Given the description of an element on the screen output the (x, y) to click on. 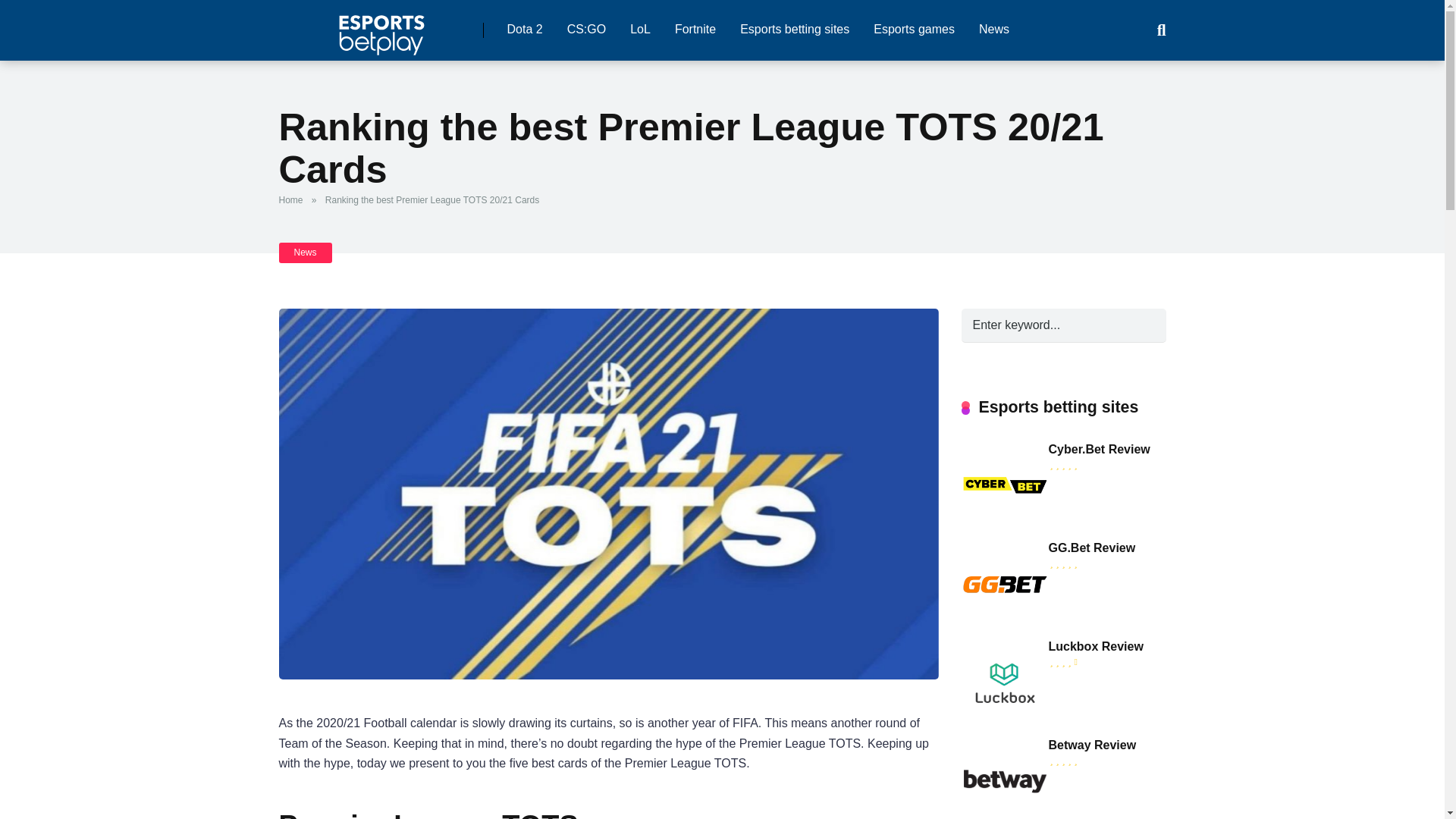
News (994, 30)
Luckbox Review (1095, 646)
Cyber.Bet Review (1099, 449)
Fortnite (695, 30)
Esports games (913, 30)
Cyber.Bet Review (1004, 524)
CS:GO (586, 30)
GG.Bet Review (1091, 548)
Esports BetPlay (381, 29)
Cyber.Bet Review (1099, 449)
